Given the description of an element on the screen output the (x, y) to click on. 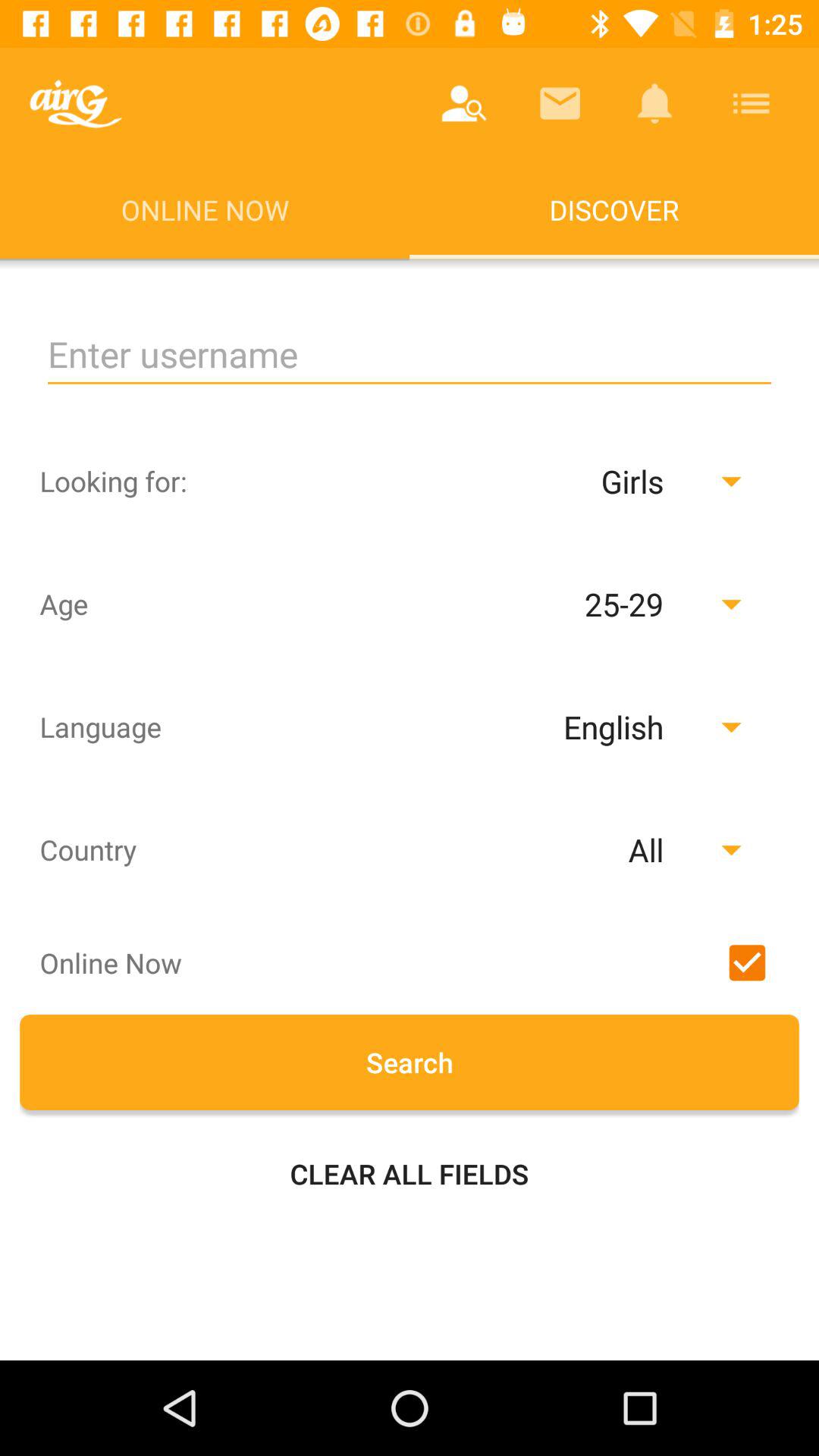
toggle check box (747, 962)
